Given the description of an element on the screen output the (x, y) to click on. 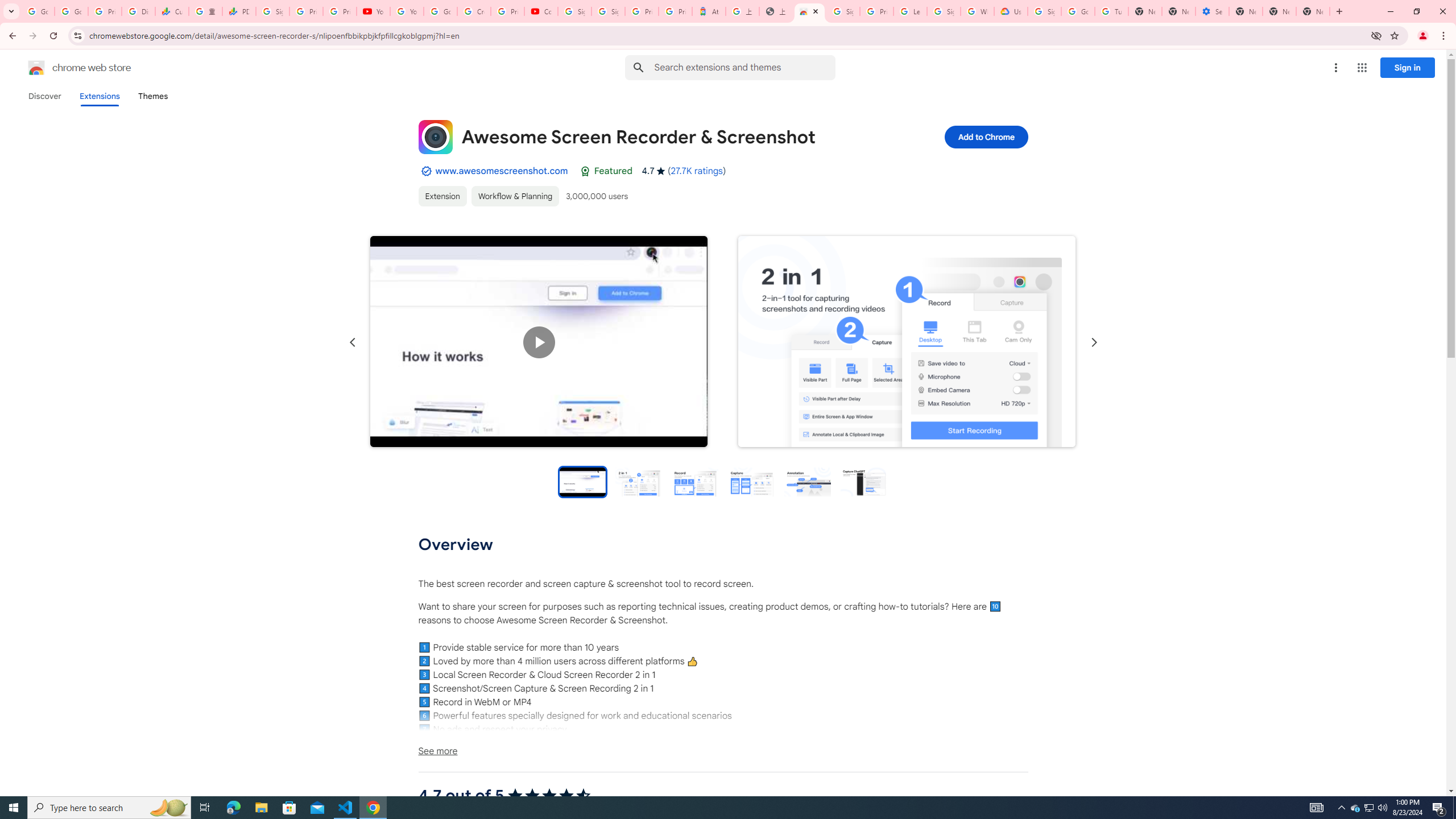
Sign in - Google Accounts (574, 11)
Awesome Screen Recorder & Screenshot - Chrome Web Store (809, 11)
www.awesomescreenshot.com (501, 170)
Preview slide 2 (638, 481)
Themes (152, 95)
Google Account Help (1077, 11)
More options menu (1335, 67)
Atour Hotel - Google hotels (708, 11)
Preview slide 4 (751, 481)
